Given the description of an element on the screen output the (x, y) to click on. 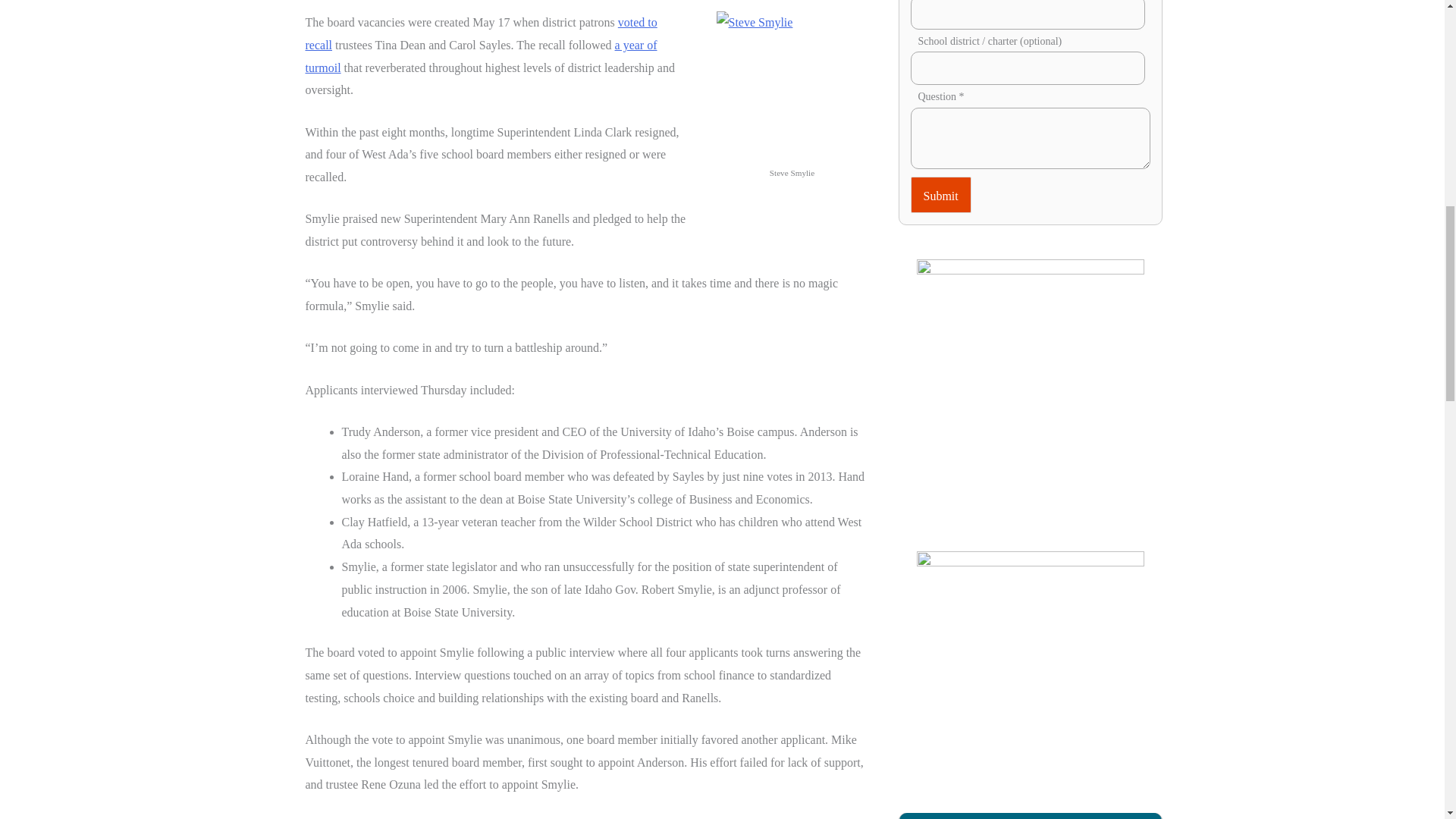
voted to recall (480, 33)
Submit (940, 194)
a year of turmoil (480, 56)
